Given the description of an element on the screen output the (x, y) to click on. 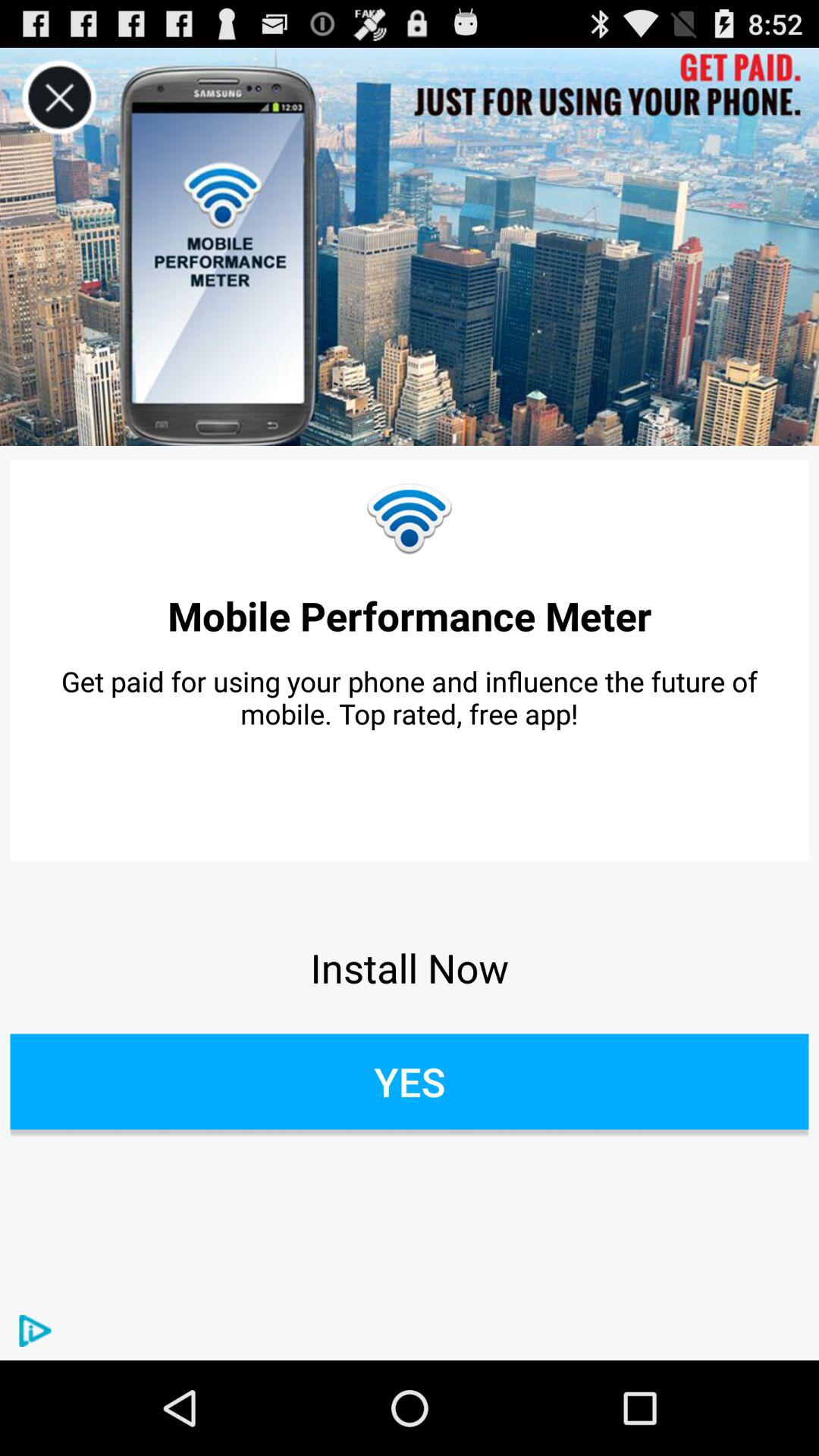
click the item below the get paid for app (409, 967)
